Given the description of an element on the screen output the (x, y) to click on. 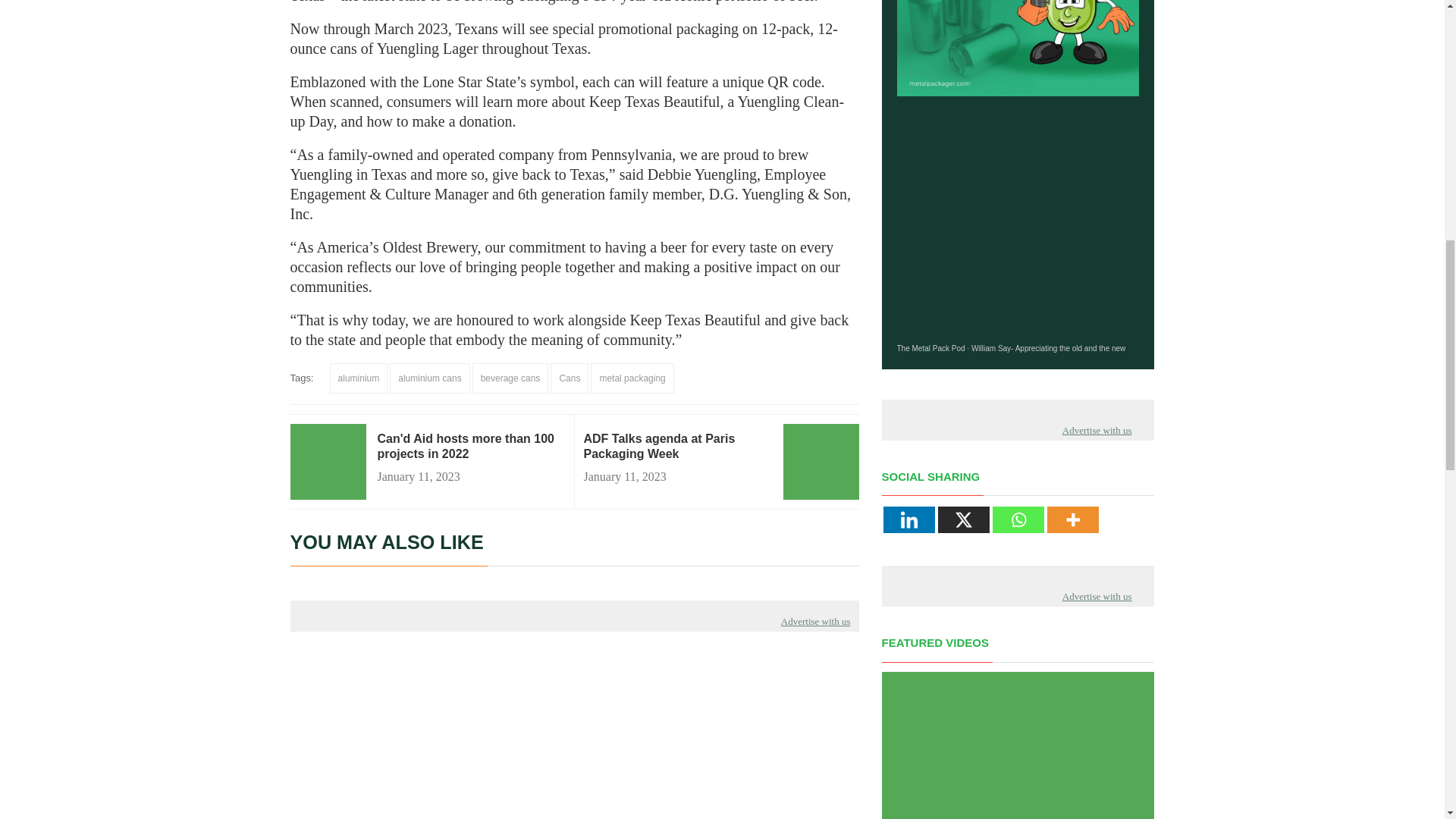
aluminium cans (429, 378)
Cans (569, 378)
The Metal Pack Pod (929, 347)
ADF Talks agenda at Paris Packaging Week (677, 446)
Can'd Aid hosts more than 100 projects in 2022 (470, 446)
prev post (677, 446)
beverage cans (509, 378)
metal packaging (631, 378)
aluminium (359, 378)
prev post (470, 446)
